Given the description of an element on the screen output the (x, y) to click on. 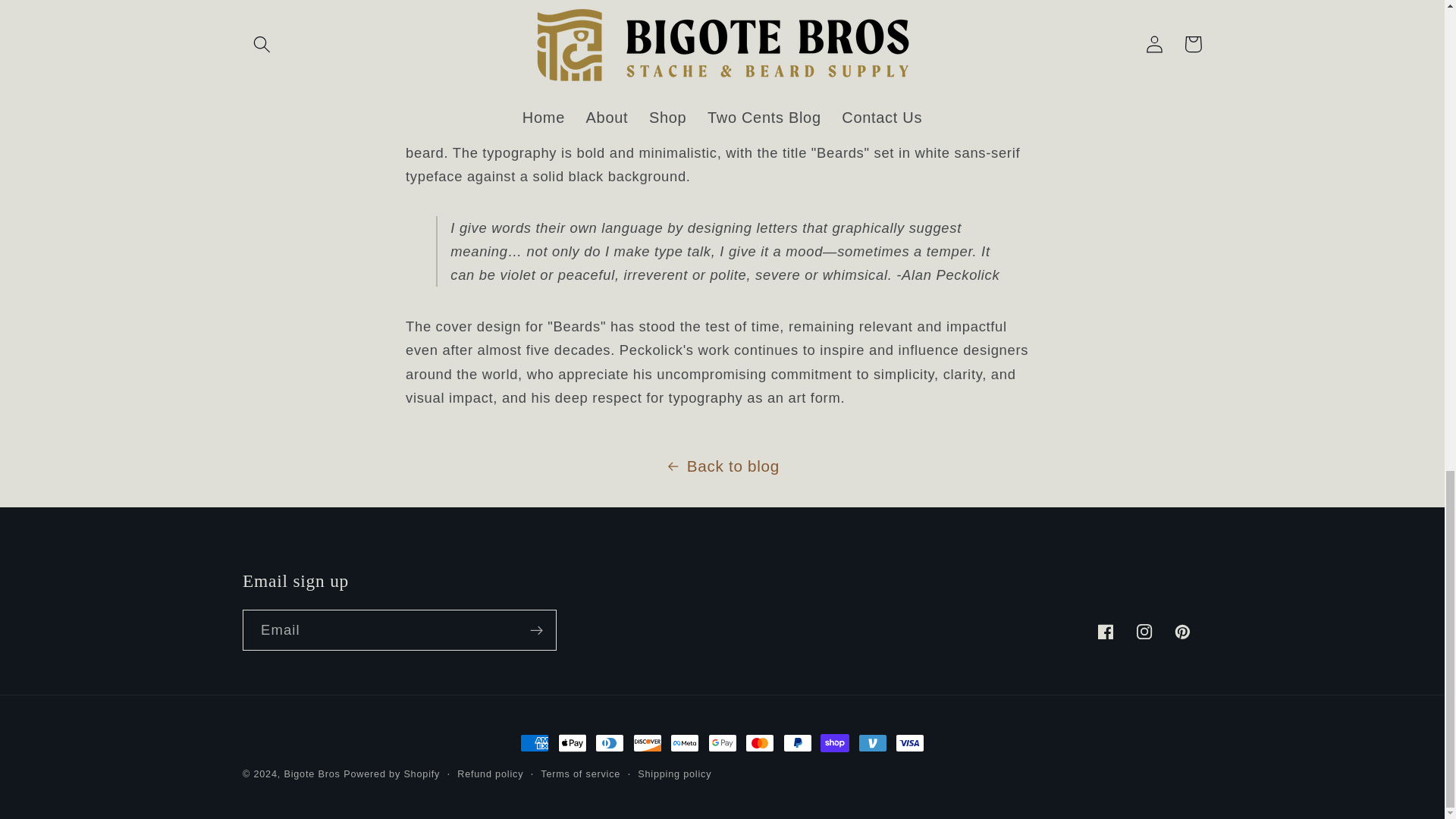
Facebook (1105, 631)
Instagram (1144, 631)
Powered by Shopify (391, 774)
Pinterest (1182, 631)
Bigote Bros (311, 774)
